Given the description of an element on the screen output the (x, y) to click on. 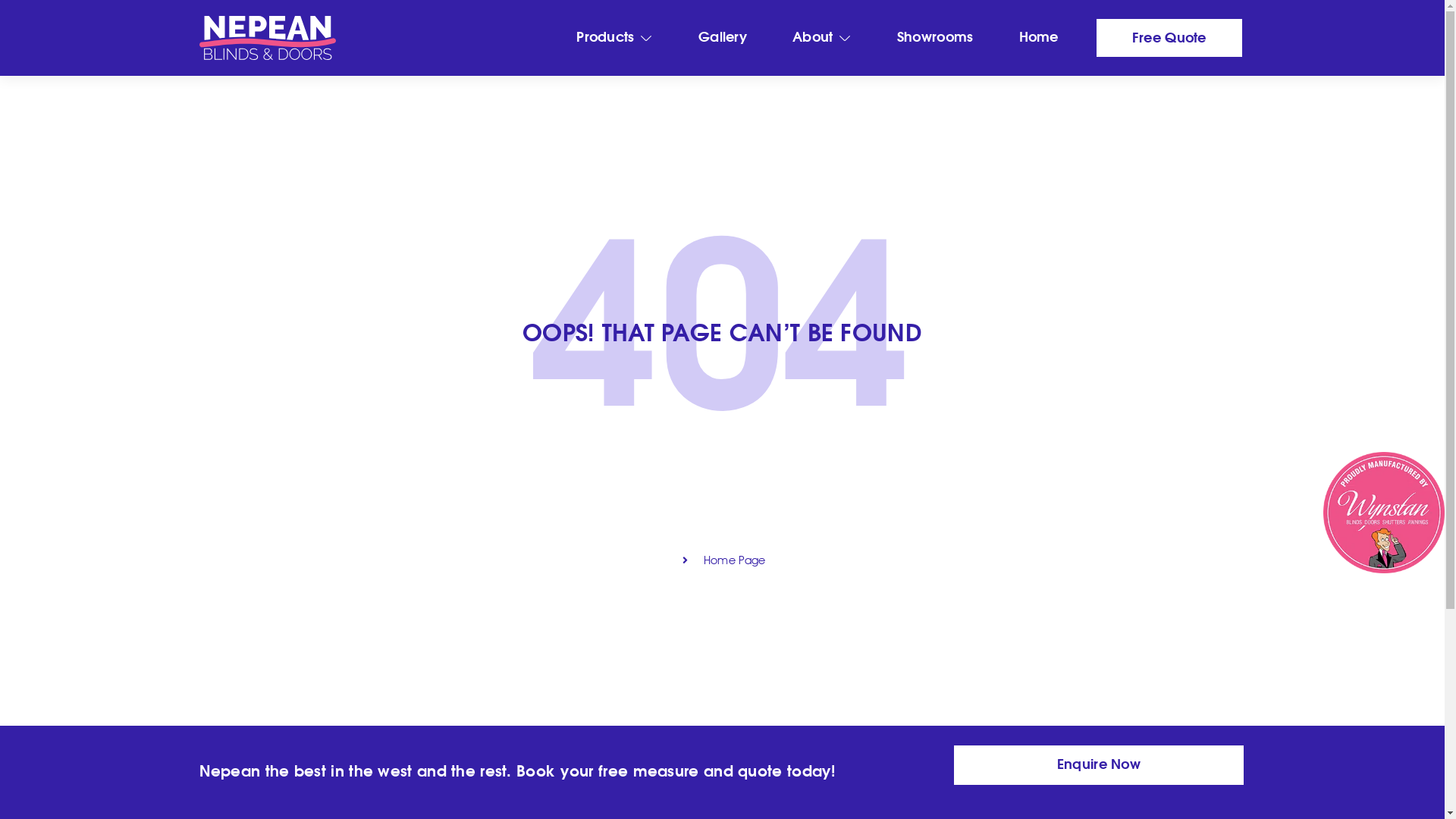
Products Element type: text (614, 37)
Showrooms Element type: text (935, 37)
About Element type: text (821, 37)
Gallery Element type: text (722, 37)
Enquire Now Element type: text (1098, 764)
Home Page Element type: text (721, 560)
Free Quote Element type: text (1169, 37)
Home Element type: text (1038, 37)
